Given the description of an element on the screen output the (x, y) to click on. 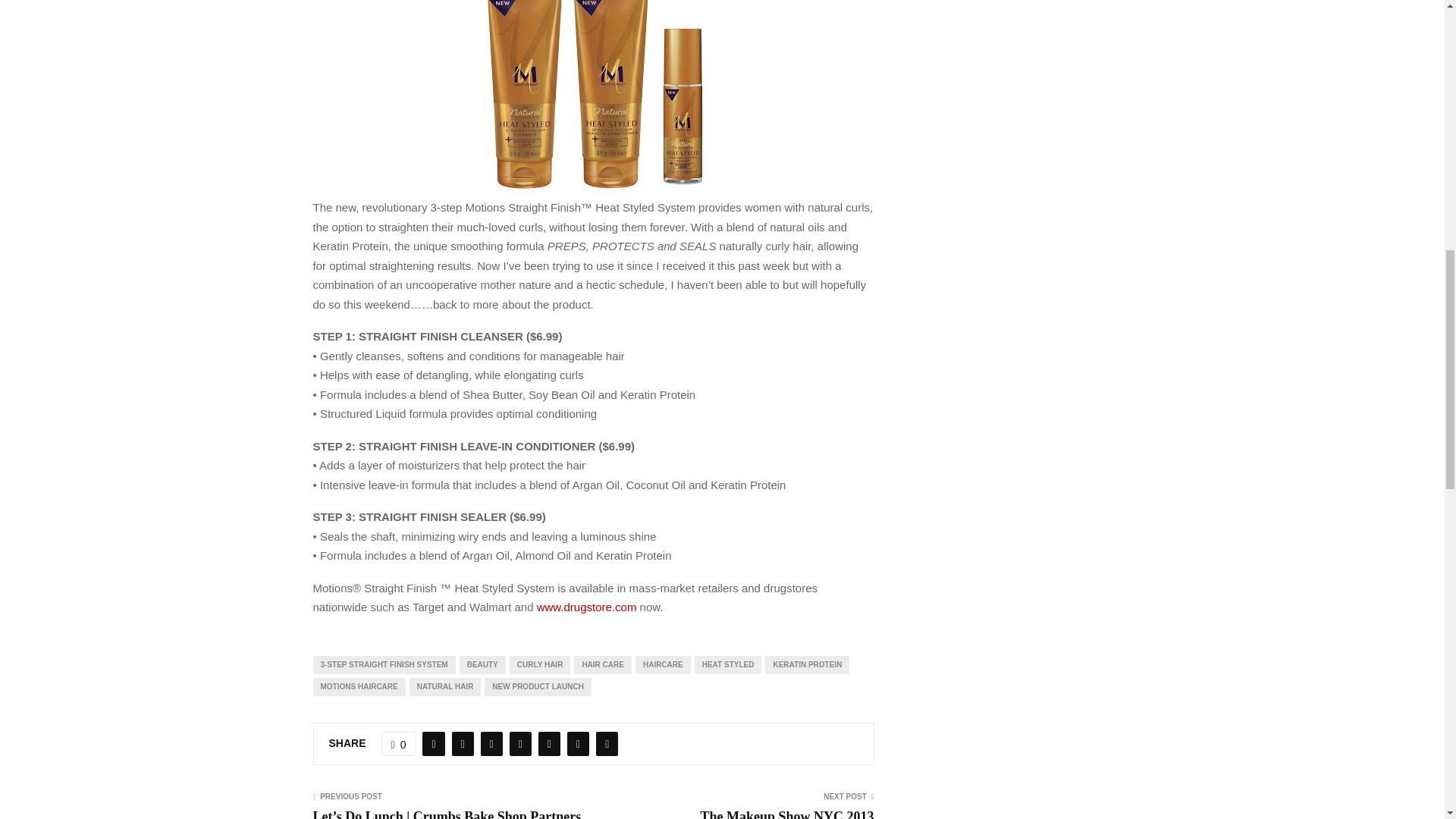
3-STEP STRAIGHT FINISH SYSTEM (383, 665)
www.drugstore.com (587, 606)
